Given the description of an element on the screen output the (x, y) to click on. 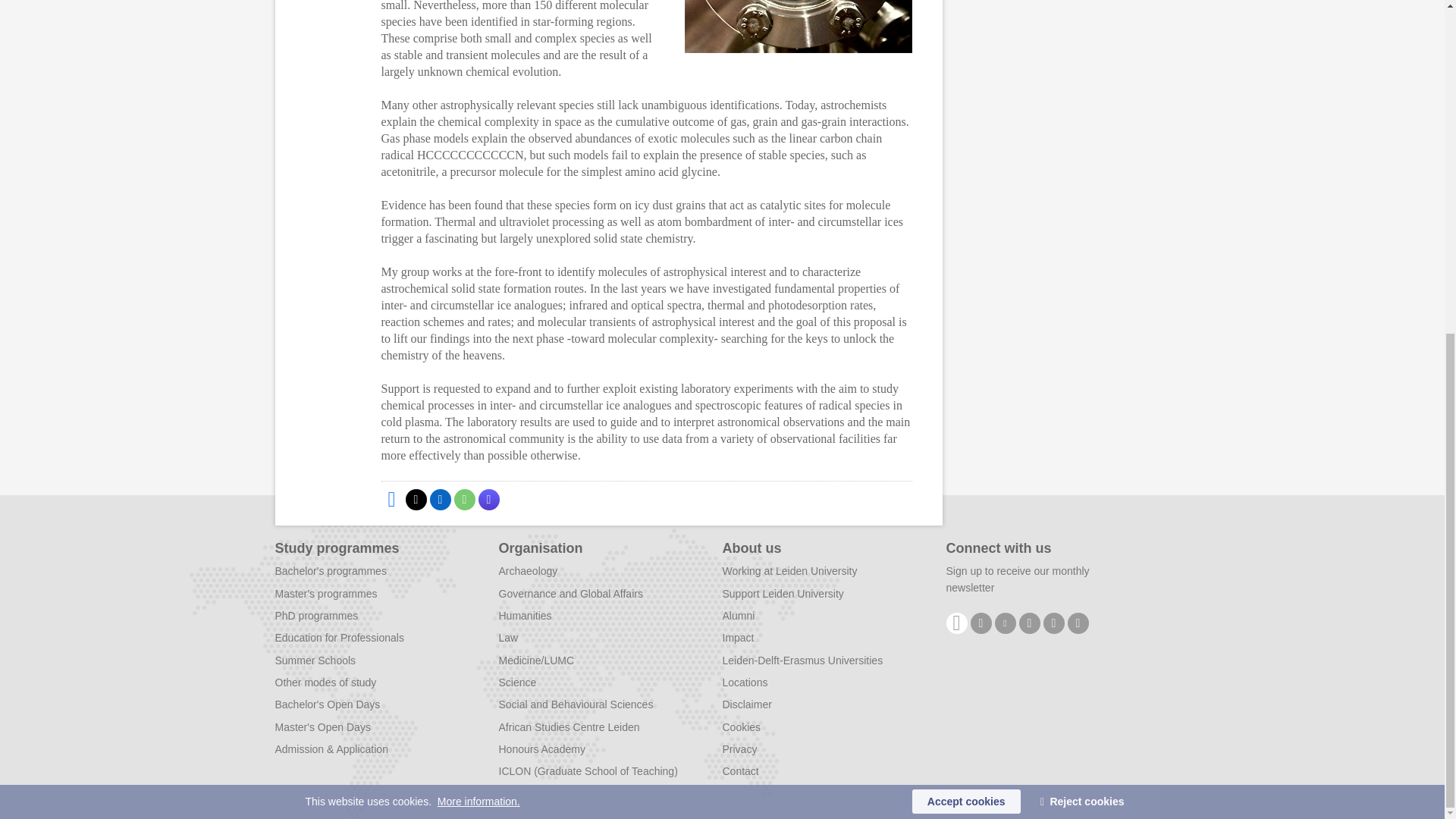
Share on Facebook (390, 499)
Share by WhatsApp (463, 499)
Share on X (415, 499)
Share on LinkedIn (439, 499)
Share by Mastodon (488, 499)
